Given the description of an element on the screen output the (x, y) to click on. 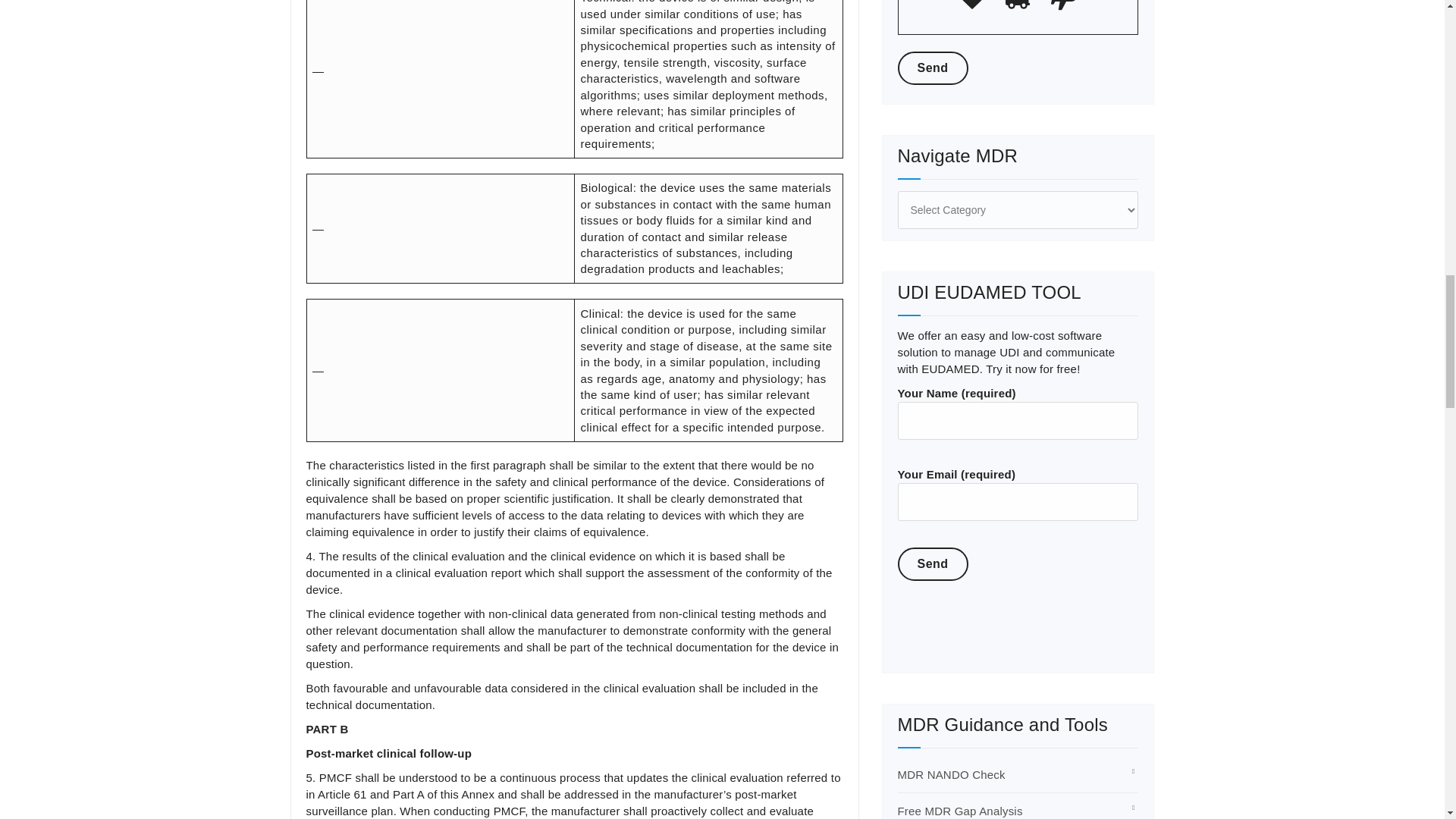
Send (933, 563)
Send (933, 68)
